Given the description of an element on the screen output the (x, y) to click on. 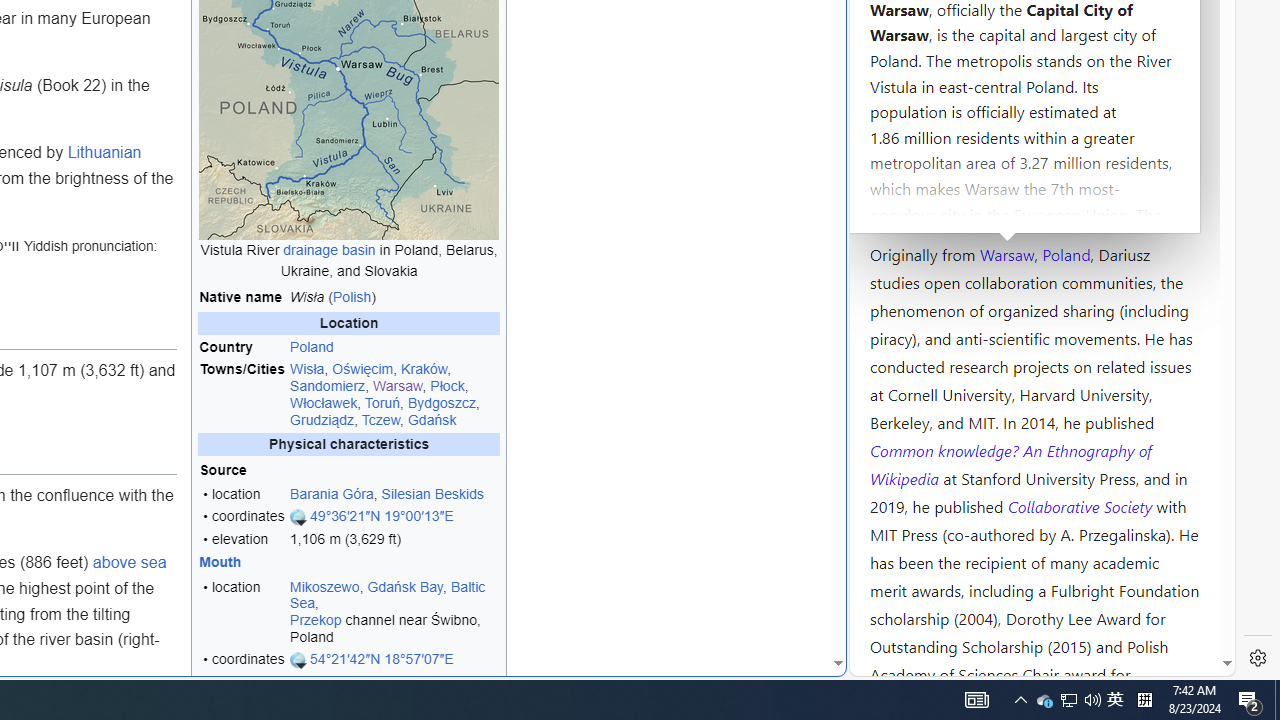
Kozminski University (1034, 136)
Towns/Cities (241, 394)
Common knowledge? An Ethnography of Wikipedia (1010, 463)
Source (241, 469)
Polish (351, 296)
Bydgoszcz (442, 402)
